Given the description of an element on the screen output the (x, y) to click on. 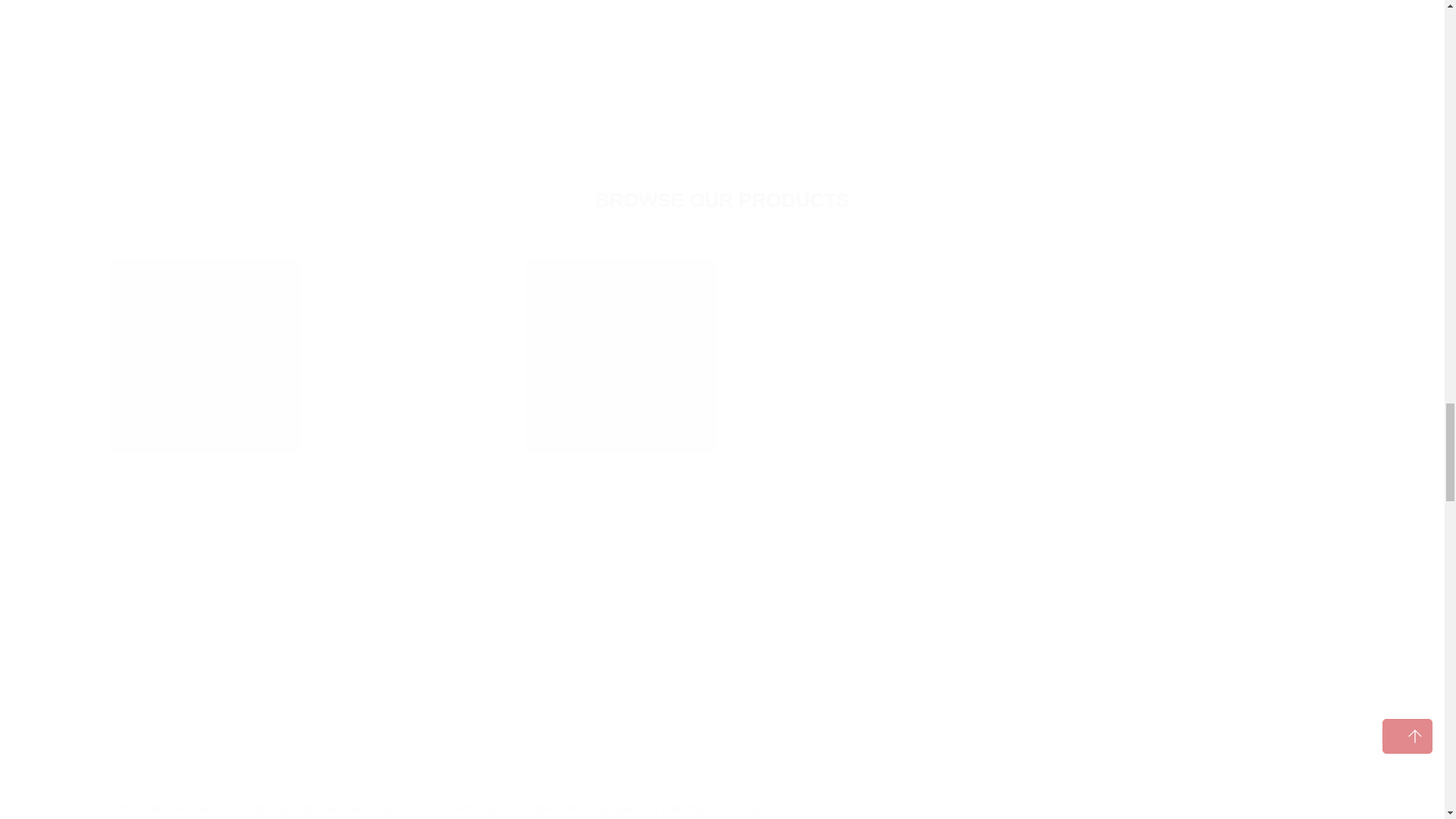
BROWSE OUR PRODUCTS (721, 200)
Prosecco wine vs Champagne: The Bubbly Breakdown (381, 45)
